Given the description of an element on the screen output the (x, y) to click on. 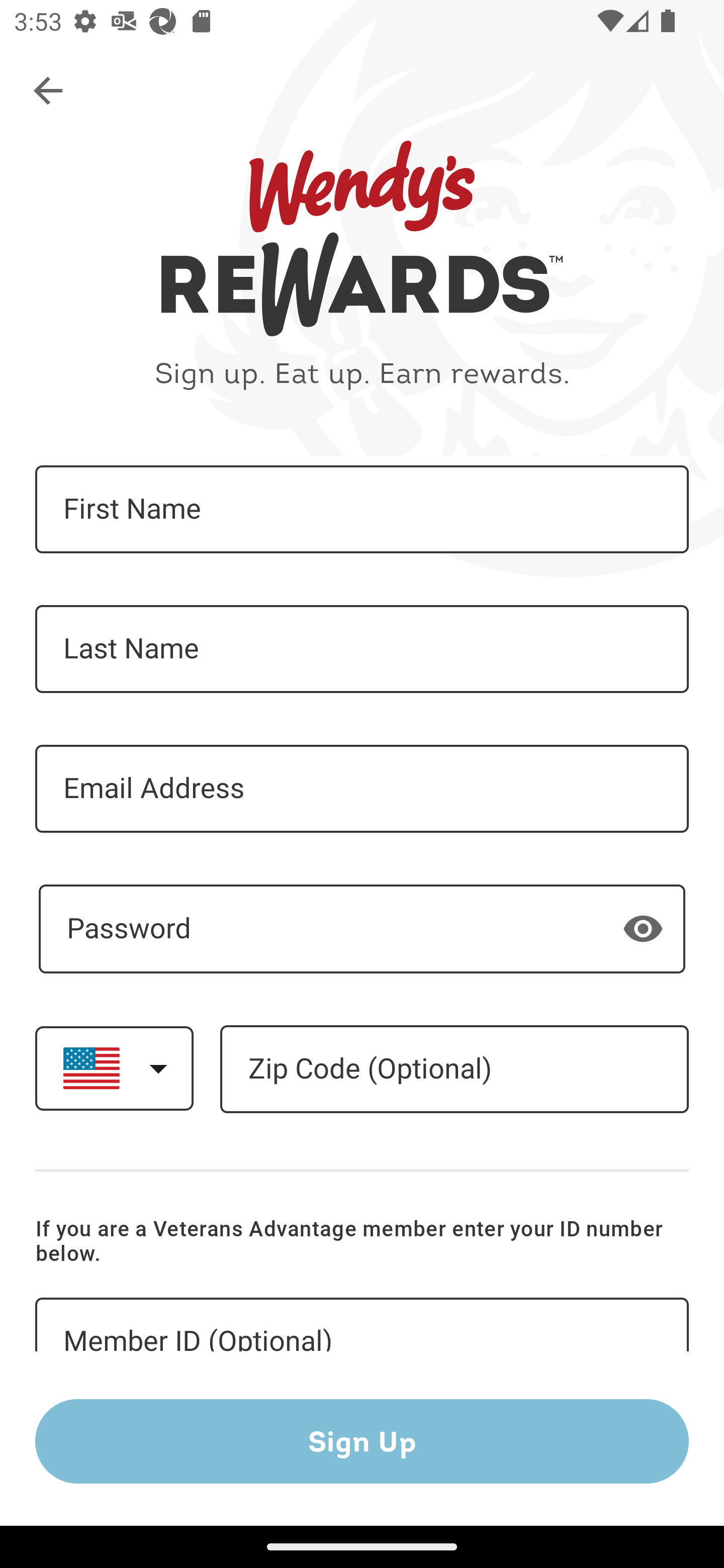
Navigate up (49, 91)
First Name - Required (361, 509)
Last Name - Required (361, 649)
Email Address - Required (361, 788)
- Required (361, 928)
Show password (642, 927)
Zip Code – Optional (454, 1069)
Select a country. United States selected. (114, 1067)
Veterans Advantage ID – Optional (361, 1324)
Sign Up (361, 1440)
